Given the description of an element on the screen output the (x, y) to click on. 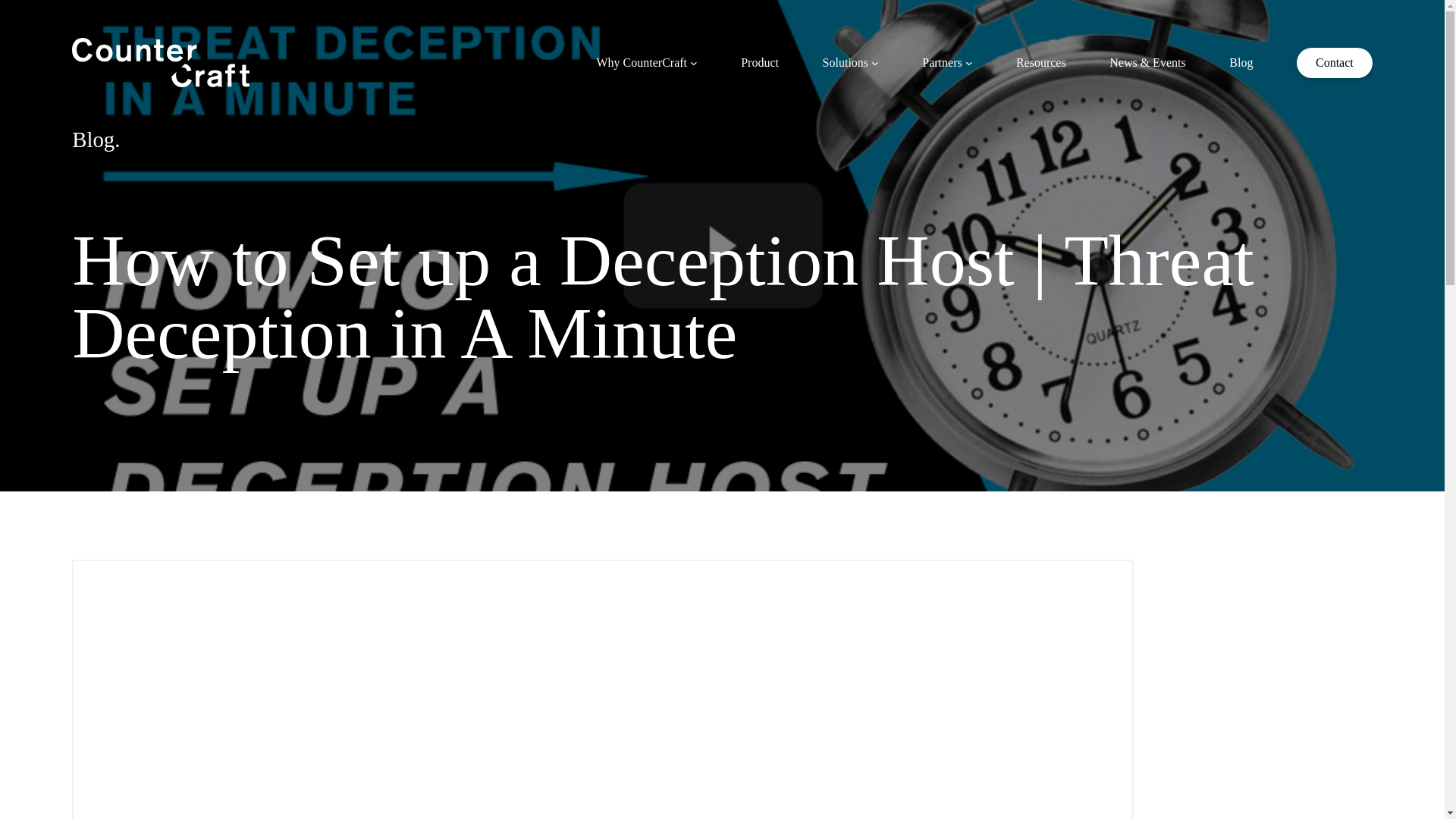
Contact (1335, 61)
Why CounterCraft (641, 62)
Solutions (844, 62)
Resources (1040, 62)
Partners (940, 62)
Product (759, 62)
Blog (1240, 62)
